Given the description of an element on the screen output the (x, y) to click on. 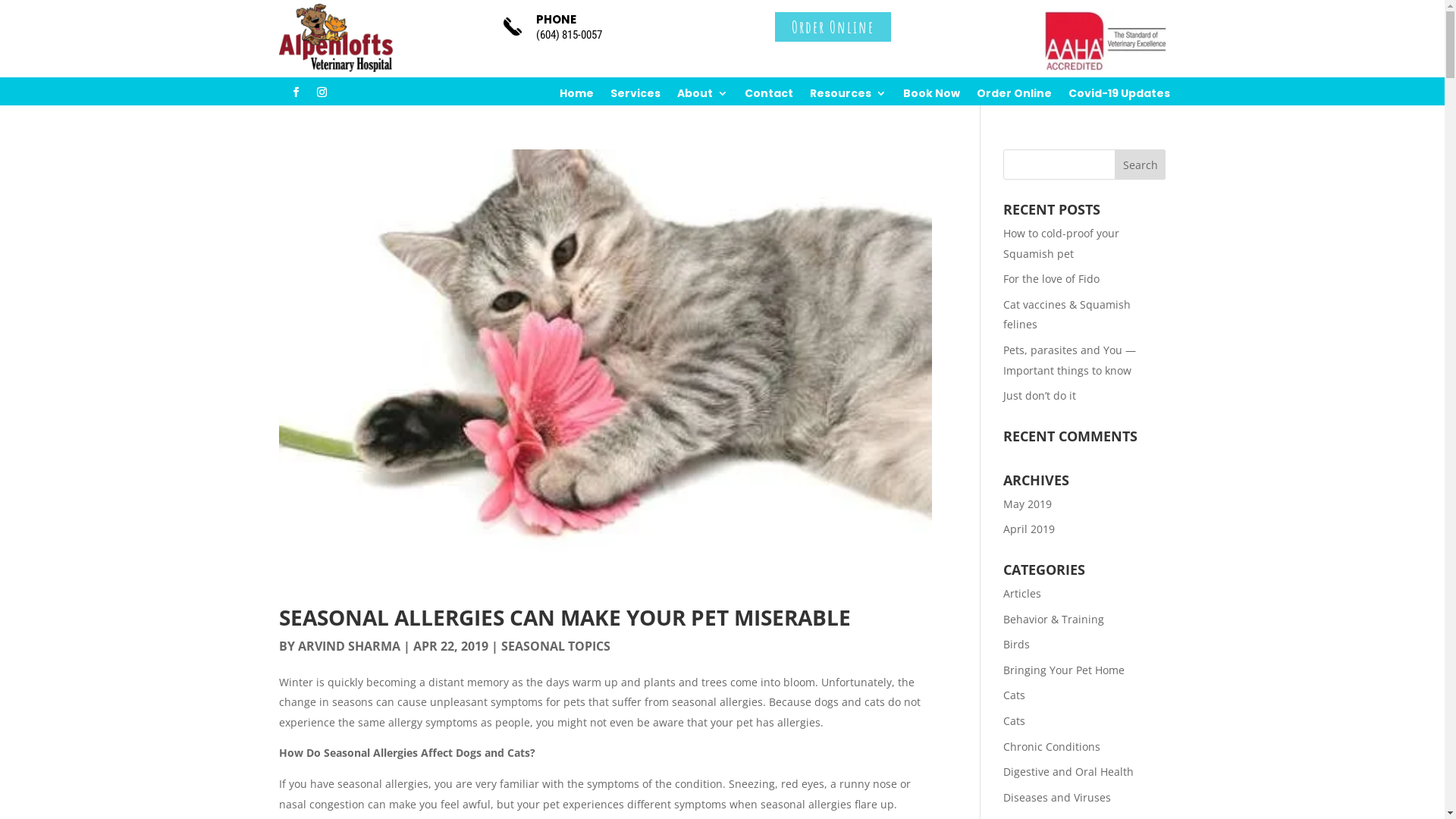
About Element type: text (702, 95)
Search Element type: text (1140, 164)
Covid-19 Updates Element type: text (1119, 95)
Digestive and Oral Health Element type: text (1068, 771)
Book Now Element type: text (931, 95)
May 2019 Element type: text (1027, 503)
Birds Element type: text (1016, 644)
SEASONAL TOPICS Element type: text (554, 645)
Order Online Element type: text (832, 26)
Cat vaccines & Squamish felines Element type: text (1066, 314)
Order Online Element type: text (1013, 95)
Home Element type: text (576, 95)
April 2019 Element type: text (1028, 528)
Contact Element type: text (768, 95)
Articles Element type: text (1022, 593)
Resources Element type: text (847, 95)
ARVIND SHARMA Element type: text (348, 645)
For the love of Fido Element type: text (1051, 278)
Services Element type: text (635, 95)
How to cold-proof your Squamish pet Element type: text (1061, 242)
Chronic Conditions Element type: text (1051, 745)
Follow on Instagram Element type: hover (321, 92)
Follow on Facebook Element type: hover (295, 92)
Diseases and Viruses Element type: text (1056, 797)
Cats Element type: text (1014, 694)
Behavior & Training Element type: text (1053, 618)
Bringing Your Pet Home Element type: text (1063, 669)
SEASONAL ALLERGIES CAN MAKE YOUR PET MISERABLE Element type: text (564, 616)
Accredited_TagR_Color-250 Element type: hover (1105, 40)
Cats Element type: text (1014, 720)
